Given the description of an element on the screen output the (x, y) to click on. 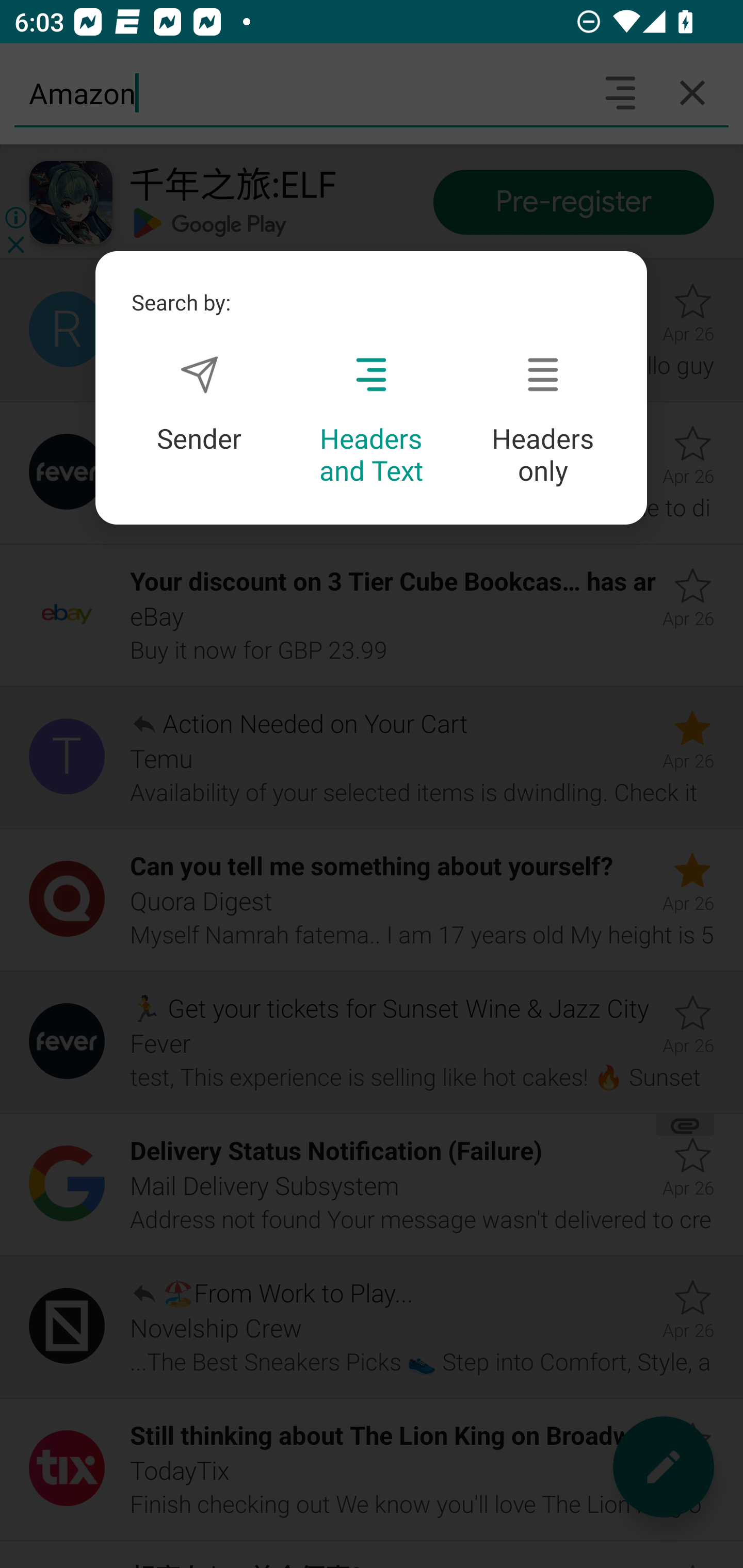
Sender (199, 404)
Headers and Text (371, 420)
Headers only (542, 420)
